Given the description of an element on the screen output the (x, y) to click on. 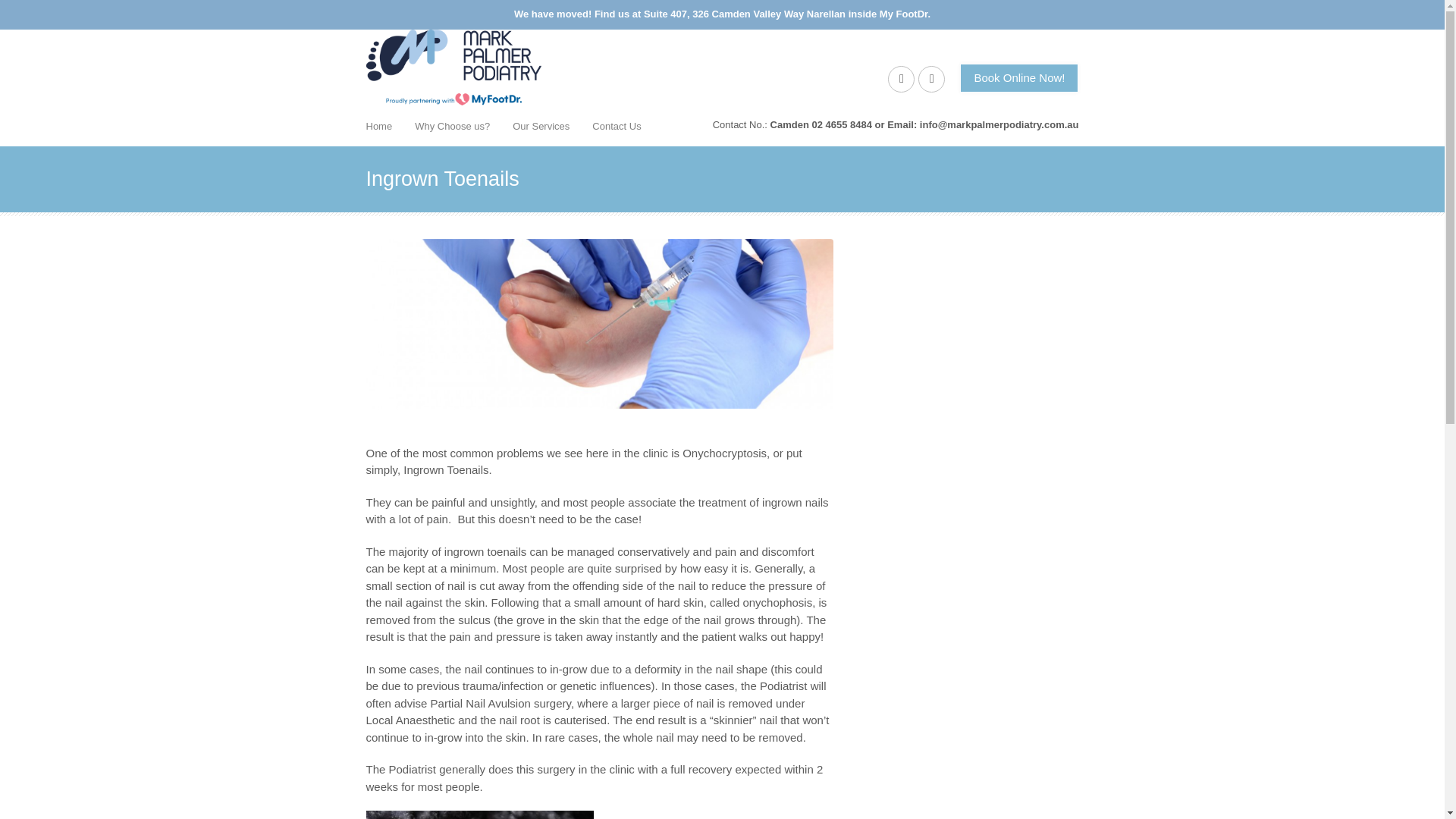
Contact Us (616, 125)
Book Online Now! (1018, 78)
Home (379, 125)
Our Services (540, 125)
Why Choose us? (451, 125)
